Given the description of an element on the screen output the (x, y) to click on. 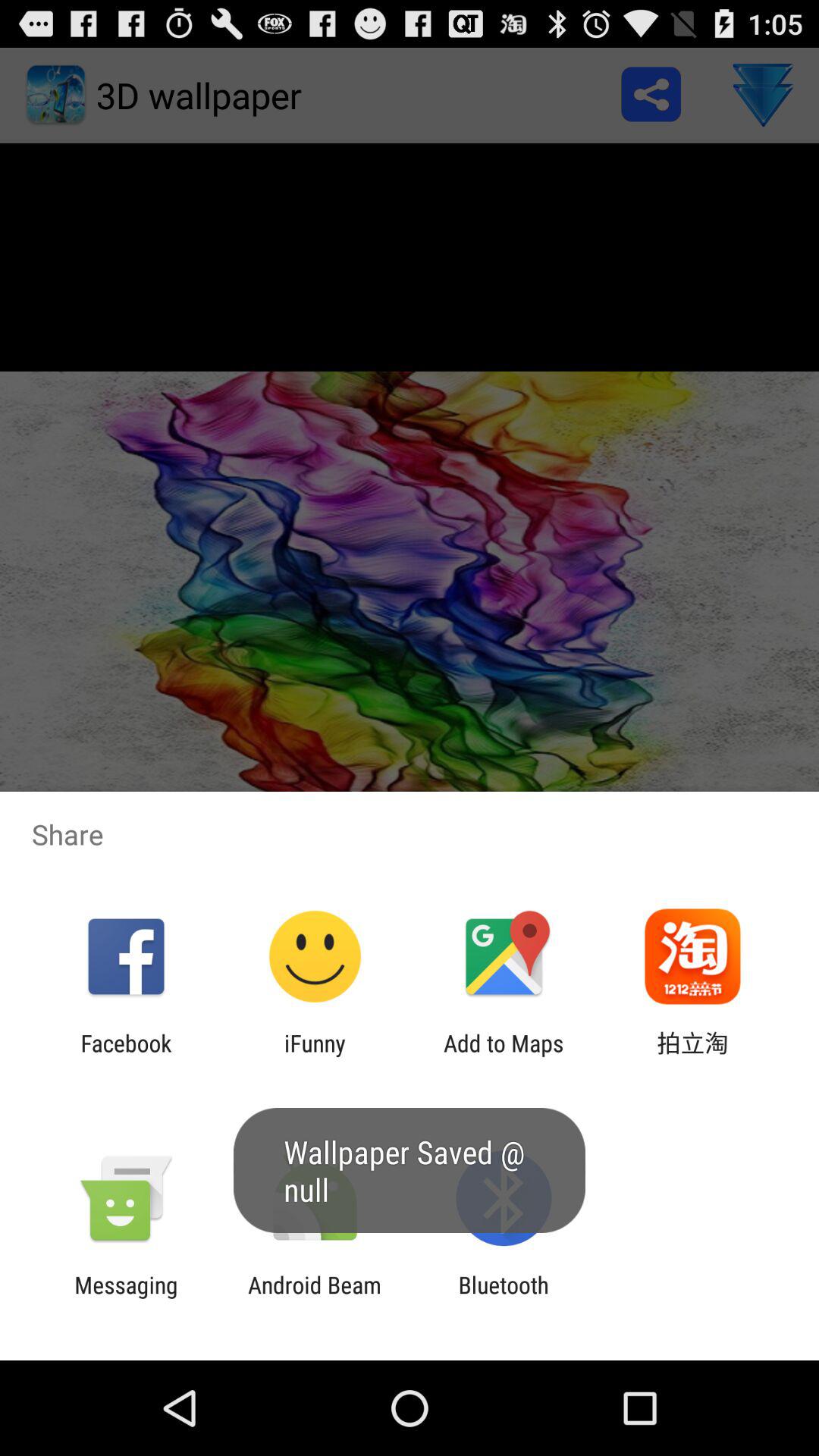
click the icon to the left of add to maps app (314, 1056)
